Given the description of an element on the screen output the (x, y) to click on. 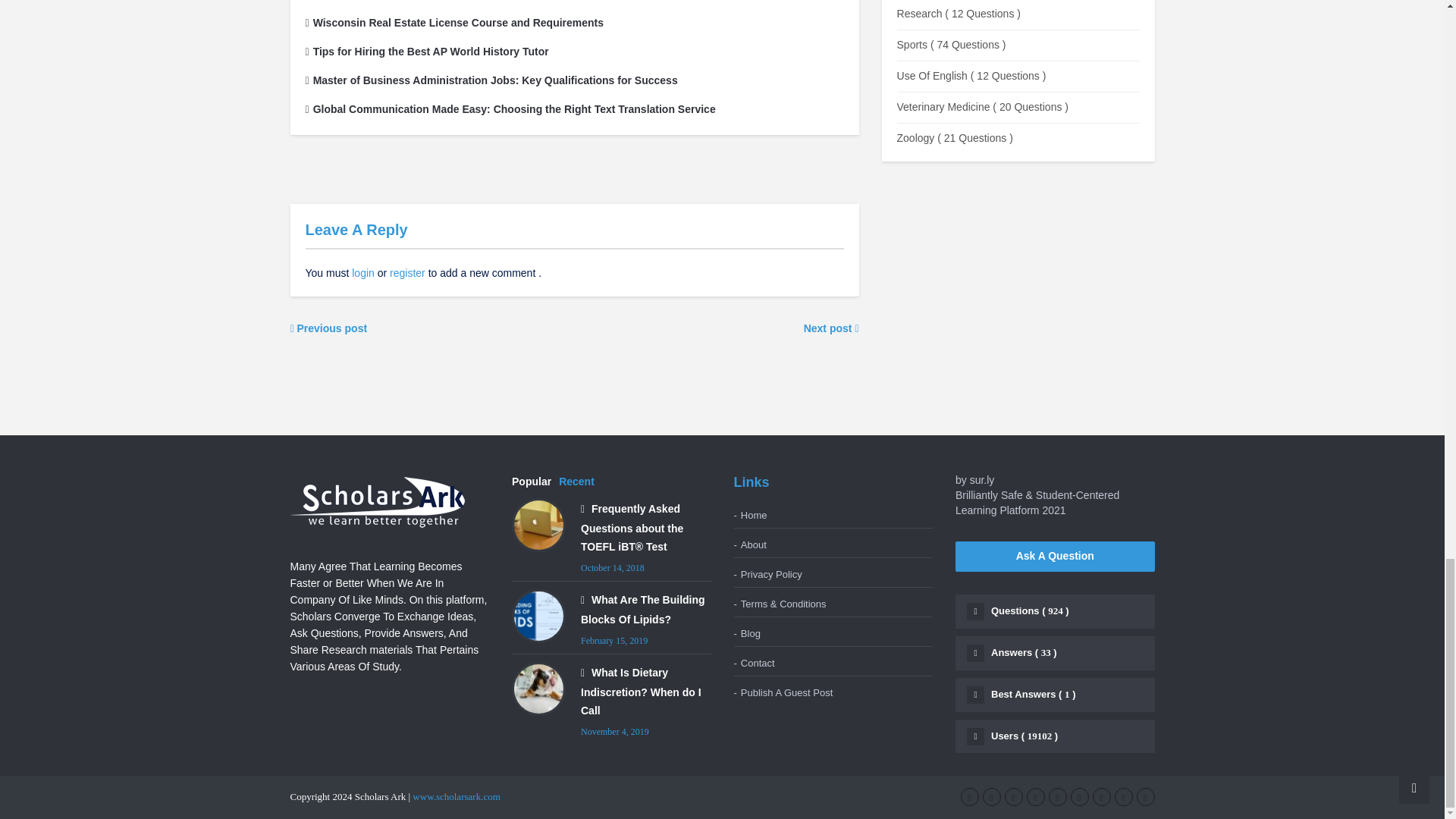
Wisconsin Real Estate License Course and Requirements (454, 22)
Tips for Hiring the Best AP World History Tutor (426, 51)
